Given the description of an element on the screen output the (x, y) to click on. 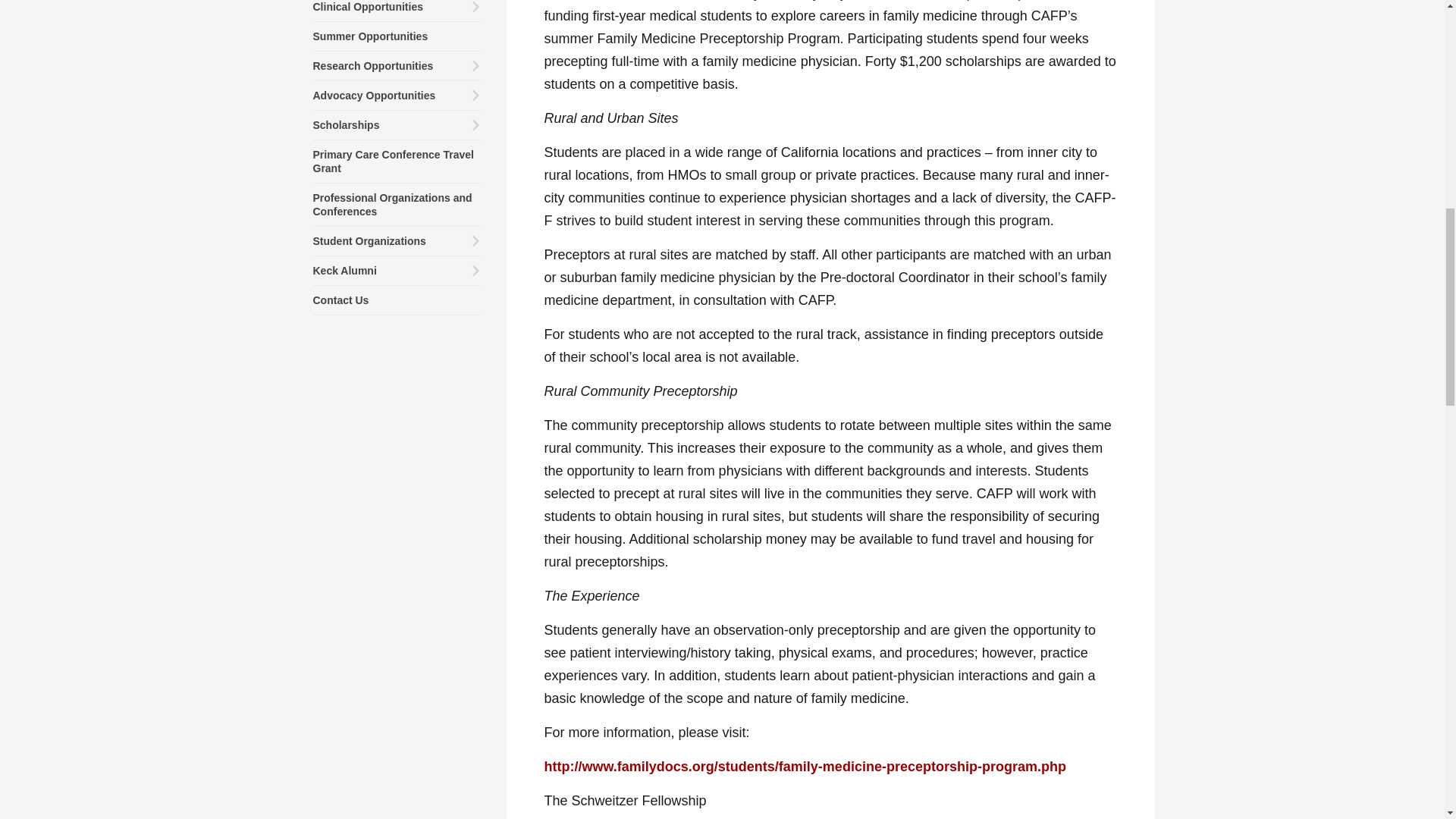
Clinical Opportunities (396, 11)
